Given the description of an element on the screen output the (x, y) to click on. 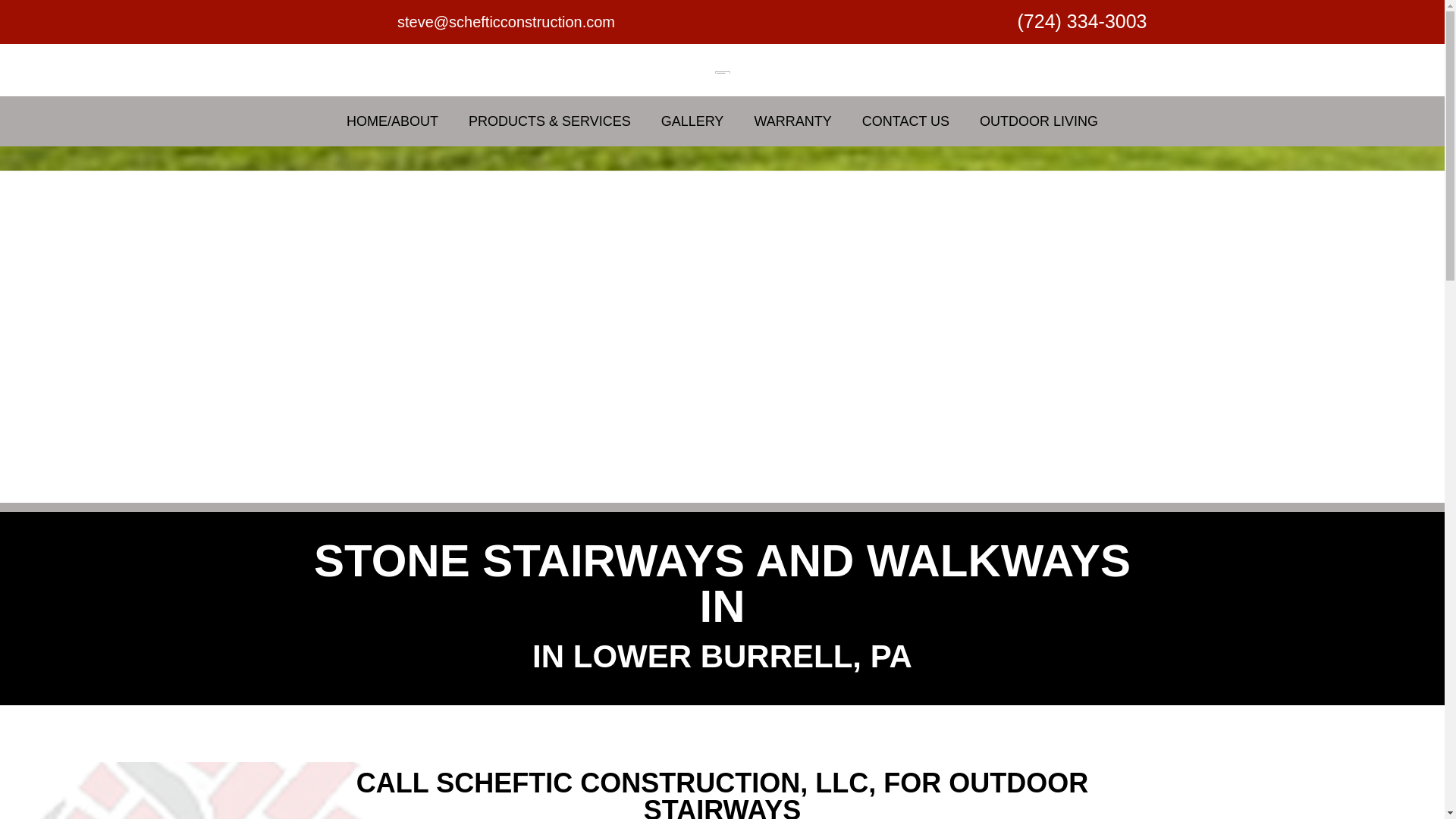
OUTDOOR LIVING (1038, 120)
GALLERY (692, 120)
CONTACT US (905, 120)
WARRANTY (791, 120)
